Given the description of an element on the screen output the (x, y) to click on. 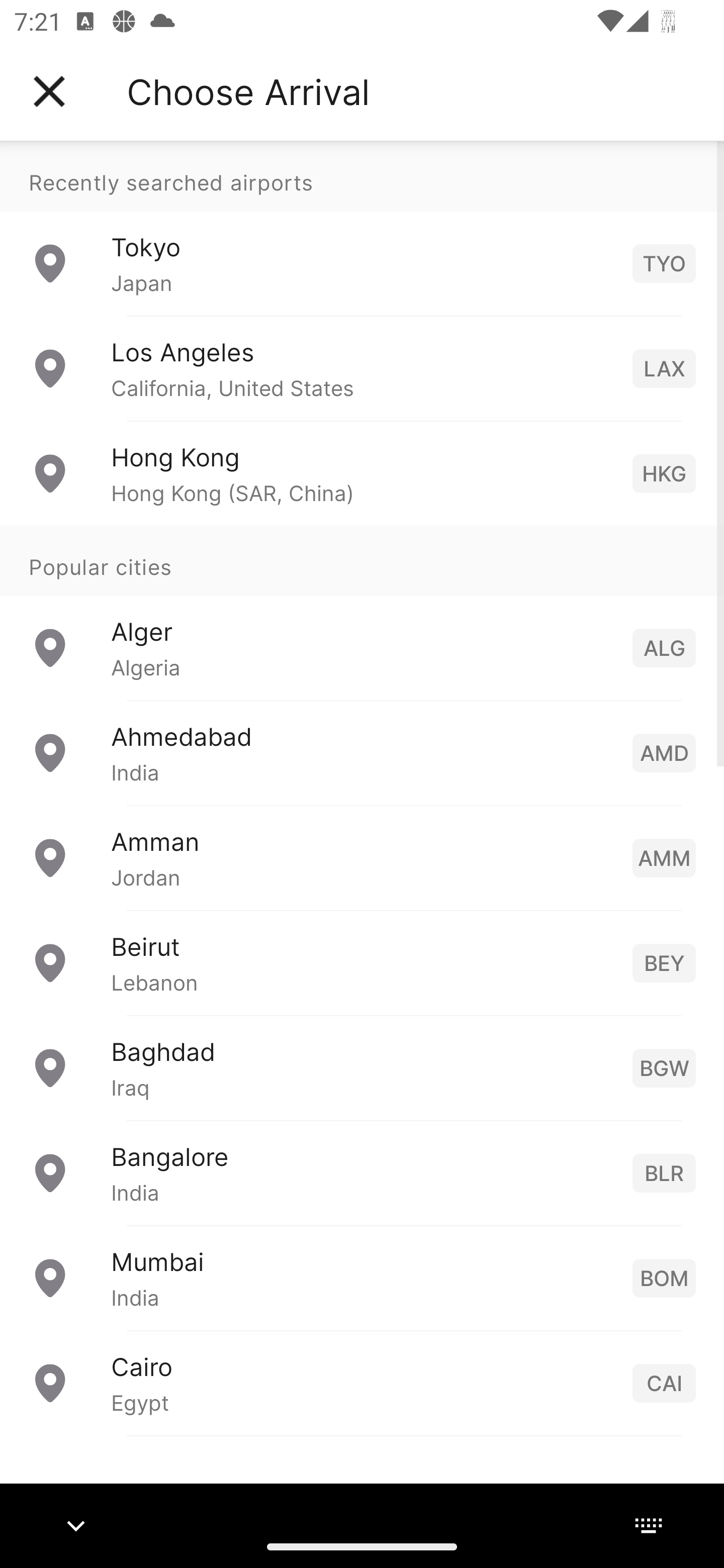
Choose Arrival (247, 91)
Recently searched airports Tokyo Japan TYO (362, 228)
Recently searched airports (362, 176)
Los Angeles California, United States LAX (362, 367)
Hong Kong Hong Kong (SAR, China) HKG (362, 472)
Popular cities Alger Algeria ALG (362, 612)
Popular cities (362, 560)
Ahmedabad India AMD (362, 751)
Amman Jordan AMM (362, 856)
Beirut Lebanon BEY (362, 961)
Baghdad Iraq BGW (362, 1066)
Bangalore India BLR (362, 1171)
Mumbai India BOM (362, 1276)
Cairo Egypt CAI (362, 1381)
